Given the description of an element on the screen output the (x, y) to click on. 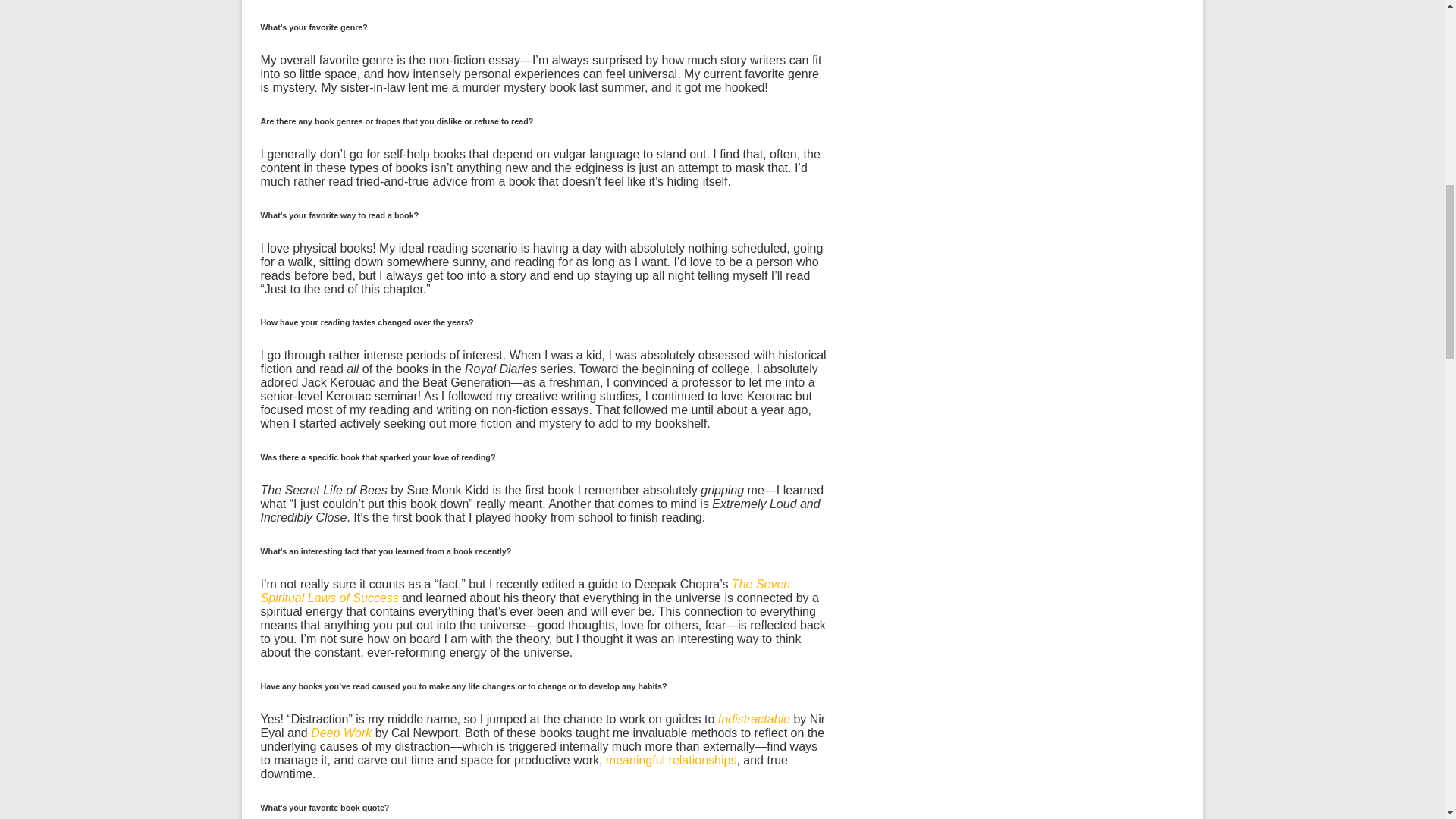
The Seven Spiritual Laws of Success (525, 591)
Deep Work (341, 732)
Indistractable (753, 718)
meaningful relationships (670, 759)
